Given the description of an element on the screen output the (x, y) to click on. 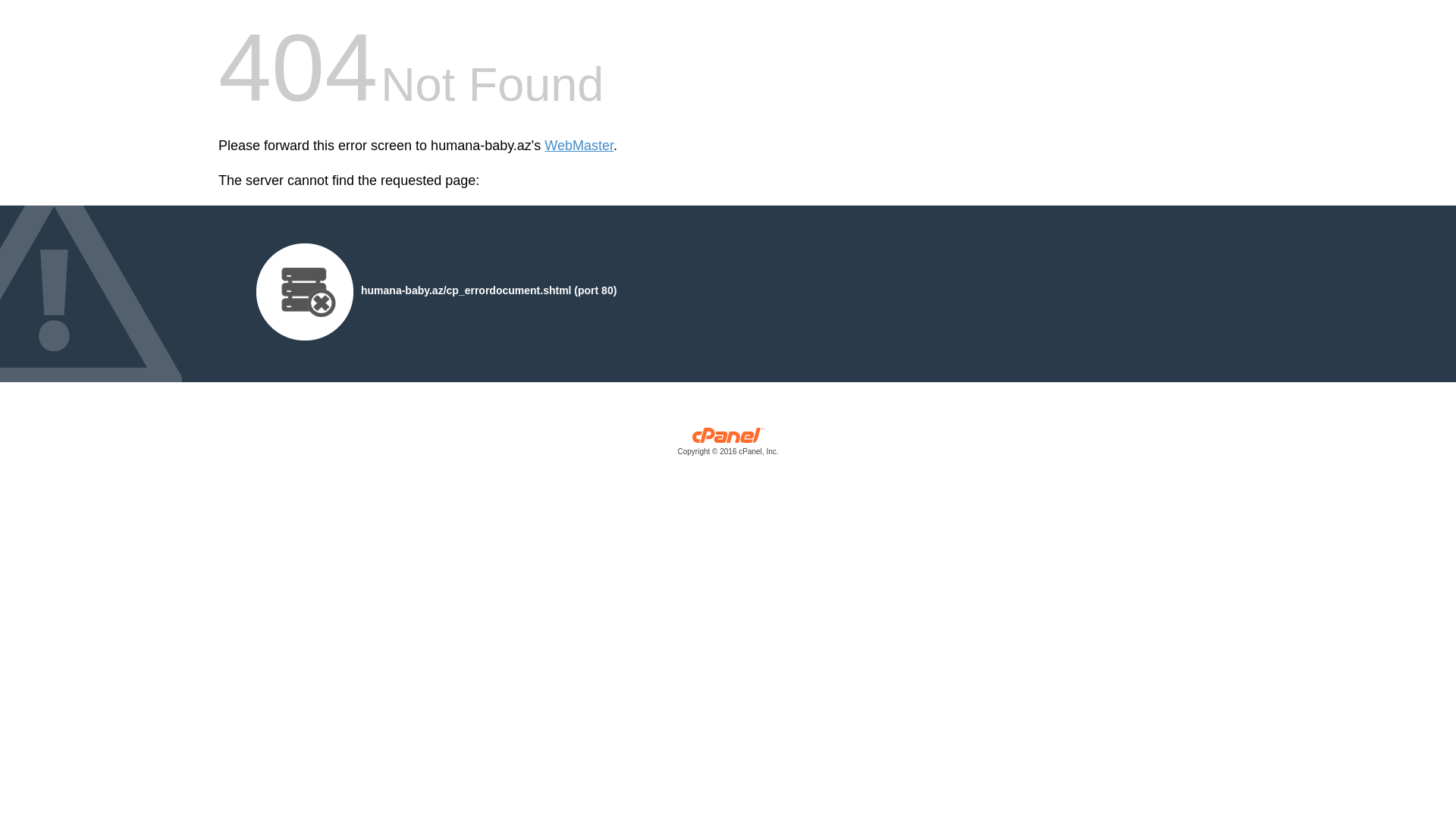
WebMaster Element type: text (578, 145)
